Given the description of an element on the screen output the (x, y) to click on. 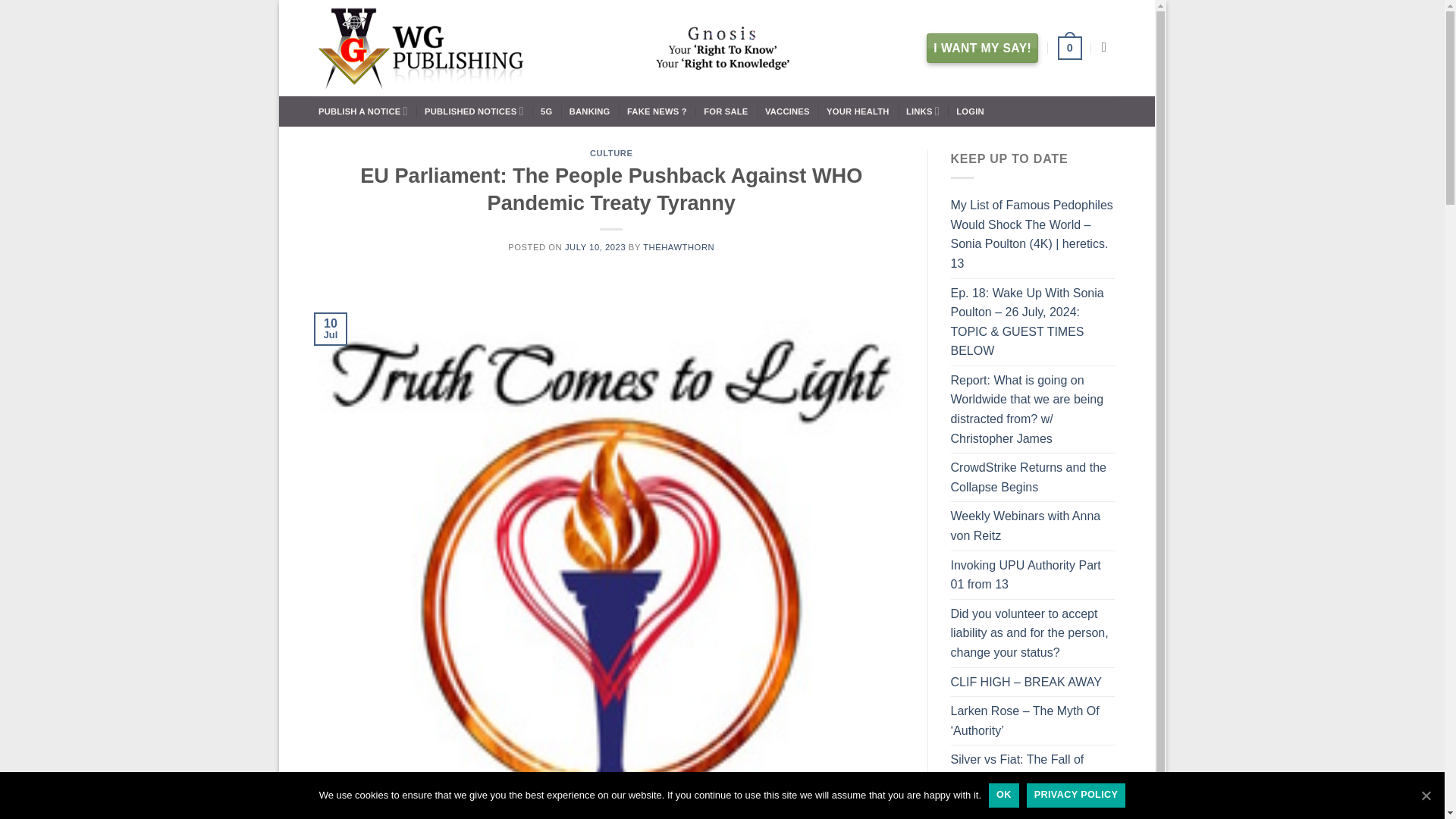
FOR SALE (725, 111)
BANKING (589, 111)
VACCINES (787, 111)
FAKE NEWS ? (657, 111)
PUBLISHED NOTICES (474, 111)
PUBLISH A NOTICE (362, 111)
